Given the description of an element on the screen output the (x, y) to click on. 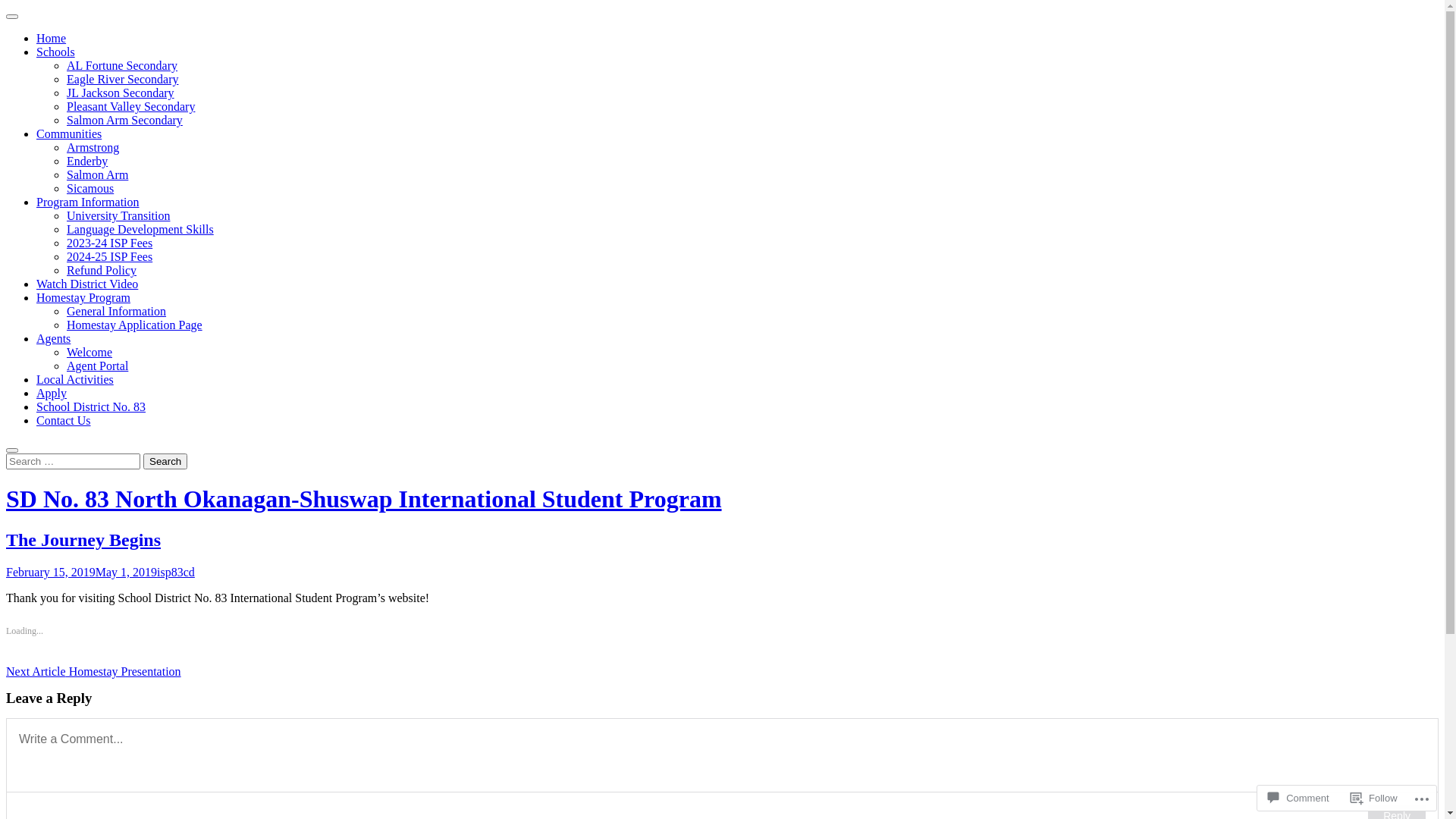
Agent Portal Element type: text (97, 365)
Communities Element type: text (68, 133)
Welcome Element type: text (89, 351)
Sicamous Element type: text (89, 188)
2023-24 ISP Fees Element type: text (109, 242)
Salmon Arm Secondary Element type: text (124, 119)
Pleasant Valley Secondary Element type: text (130, 106)
Homestay Application Page Element type: text (134, 324)
Next Article Homestay Presentation Element type: text (93, 671)
Program Information Element type: text (87, 201)
General Information Element type: text (116, 310)
University Transition Element type: text (117, 215)
Watch District Video Element type: text (87, 283)
The Journey Begins Element type: text (83, 539)
Apply Element type: text (51, 392)
JL Jackson Secondary Element type: text (120, 92)
Salmon Arm Element type: text (97, 174)
Schools Element type: text (55, 51)
Home Element type: text (50, 37)
Armstrong Element type: text (92, 147)
Eagle River Secondary Element type: text (122, 78)
Follow Element type: text (1373, 797)
School District No. 83 Element type: text (90, 406)
Homestay Program Element type: text (83, 297)
Search Element type: text (165, 461)
Enderby Element type: text (86, 160)
AL Fortune Secondary Element type: text (121, 65)
Comment Element type: text (1297, 797)
Local Activities Element type: text (74, 379)
February 15, 2019May 1, 2019 Element type: text (81, 571)
Language Development Skills Element type: text (139, 228)
Skip to content Element type: text (5, 5)
Primary Menu Element type: text (12, 16)
2024-25 ISP Fees Element type: text (109, 256)
Agents Element type: text (53, 338)
Contact Us Element type: text (63, 420)
Refund Policy Element type: text (101, 269)
isp83cd Element type: text (175, 571)
Search Element type: text (12, 450)
